Given the description of an element on the screen output the (x, y) to click on. 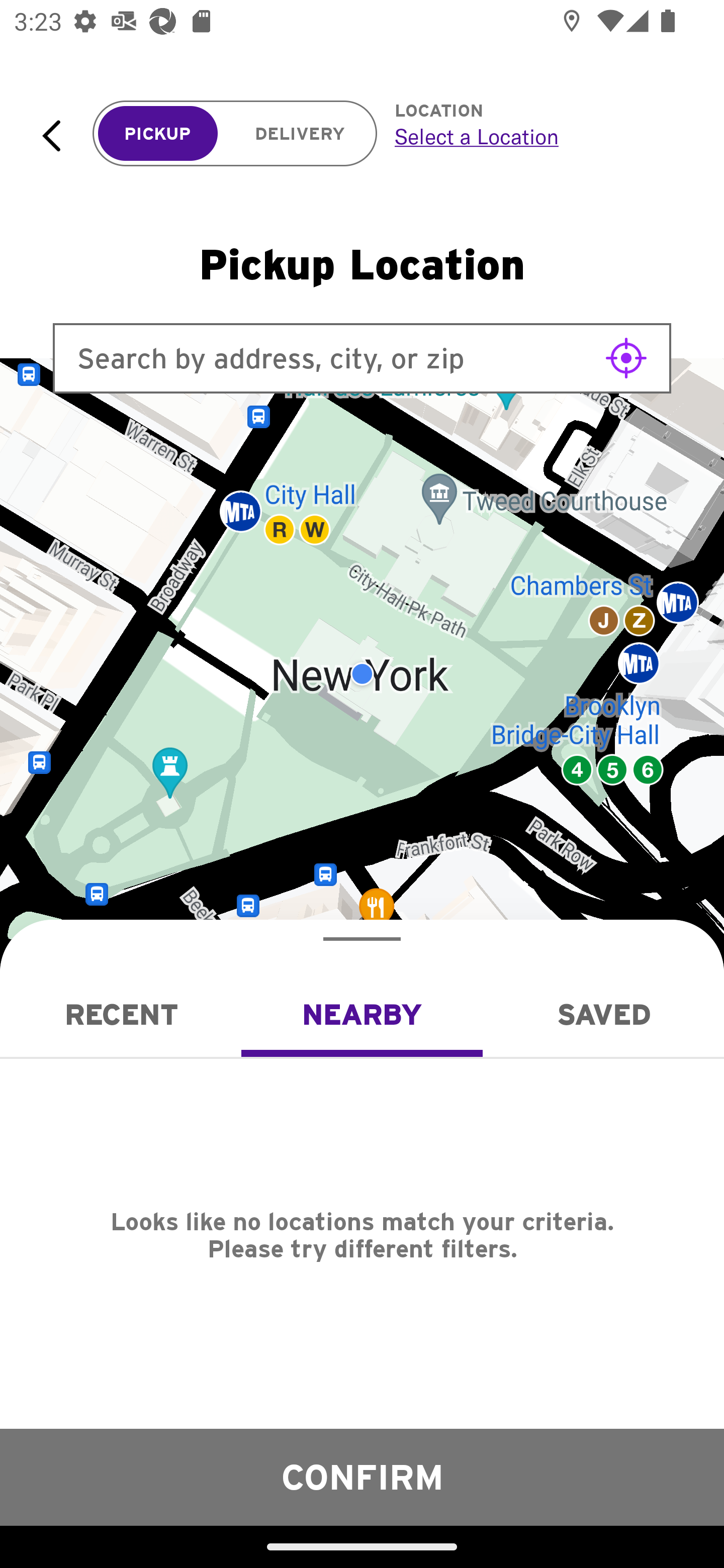
PICKUP (157, 133)
DELIVERY (299, 133)
Select a Location (536, 136)
Search by address, city, or zip (361, 358)
Google Map (362, 674)
Recent RECENT (120, 1014)
Saved SAVED (603, 1014)
CONFIRM (362, 1476)
